Given the description of an element on the screen output the (x, y) to click on. 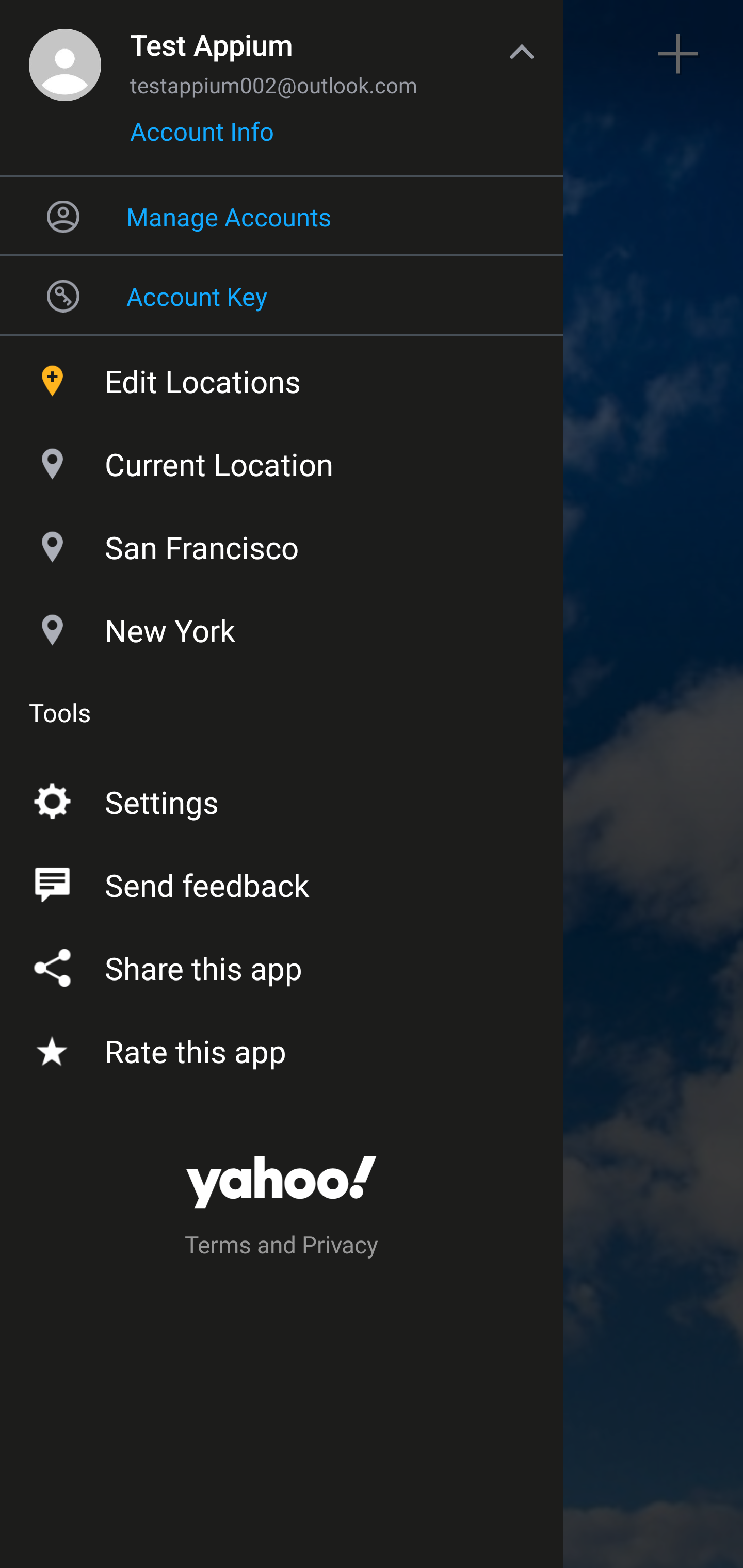
Sidebar (64, 54)
Account Info (202, 137)
Manage Accounts (281, 216)
Account Key (281, 295)
Edit Locations (281, 376)
Current Location (281, 459)
San Francisco (281, 542)
New York (281, 625)
Settings (281, 798)
Send feedback (281, 880)
Share this app (281, 963)
Terms and Privacy Terms and privacy button (281, 1248)
